Given the description of an element on the screen output the (x, y) to click on. 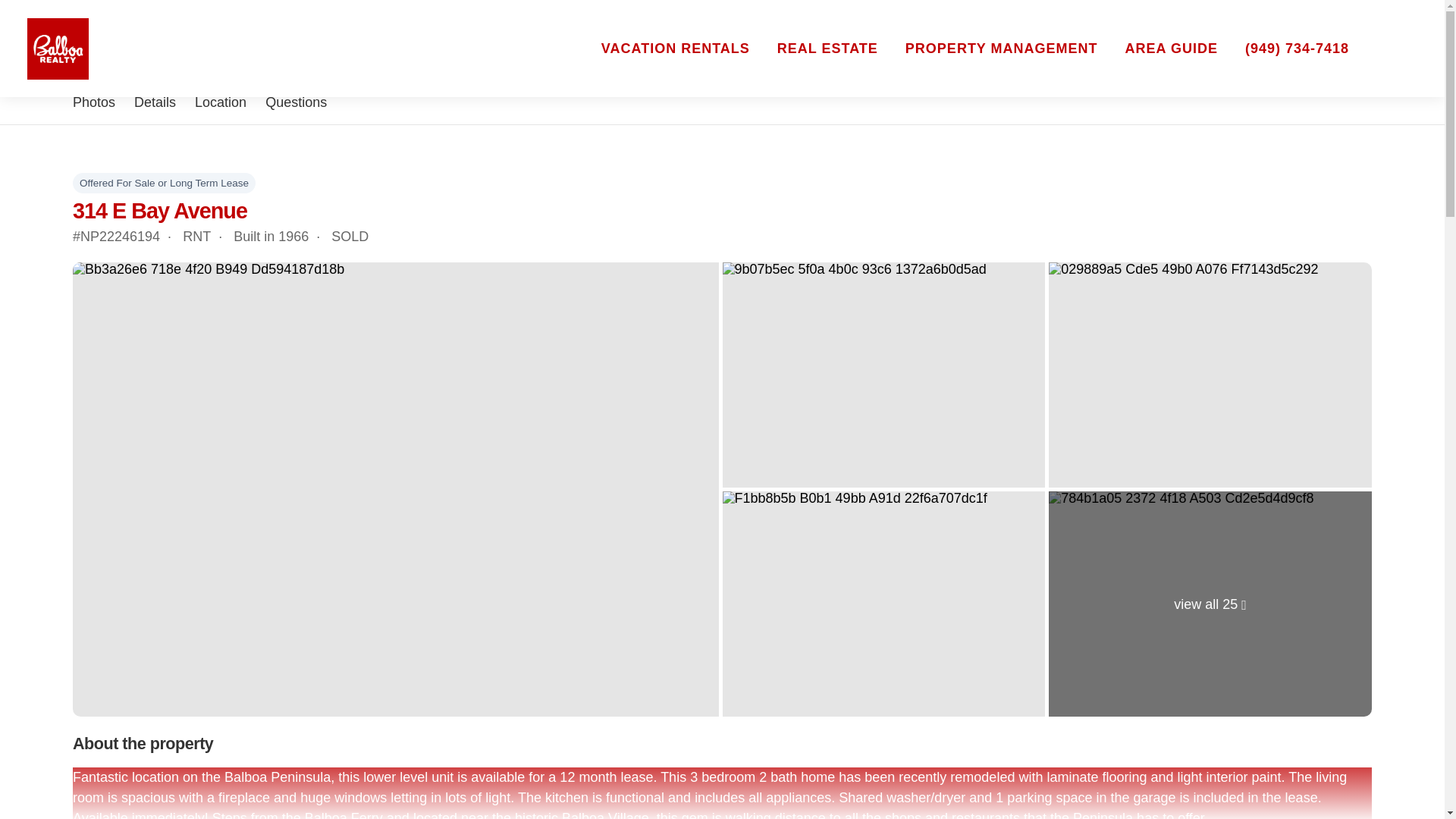
Vacation Rentals (675, 48)
REAL ESTATE (827, 48)
Newport Beach Vacation Properties (57, 48)
Read more (1107, 20)
Burrwhite Realty (328, 48)
VACATION RENTALS (675, 48)
PROPERTY MANAGEMENT (1001, 48)
